Given the description of an element on the screen output the (x, y) to click on. 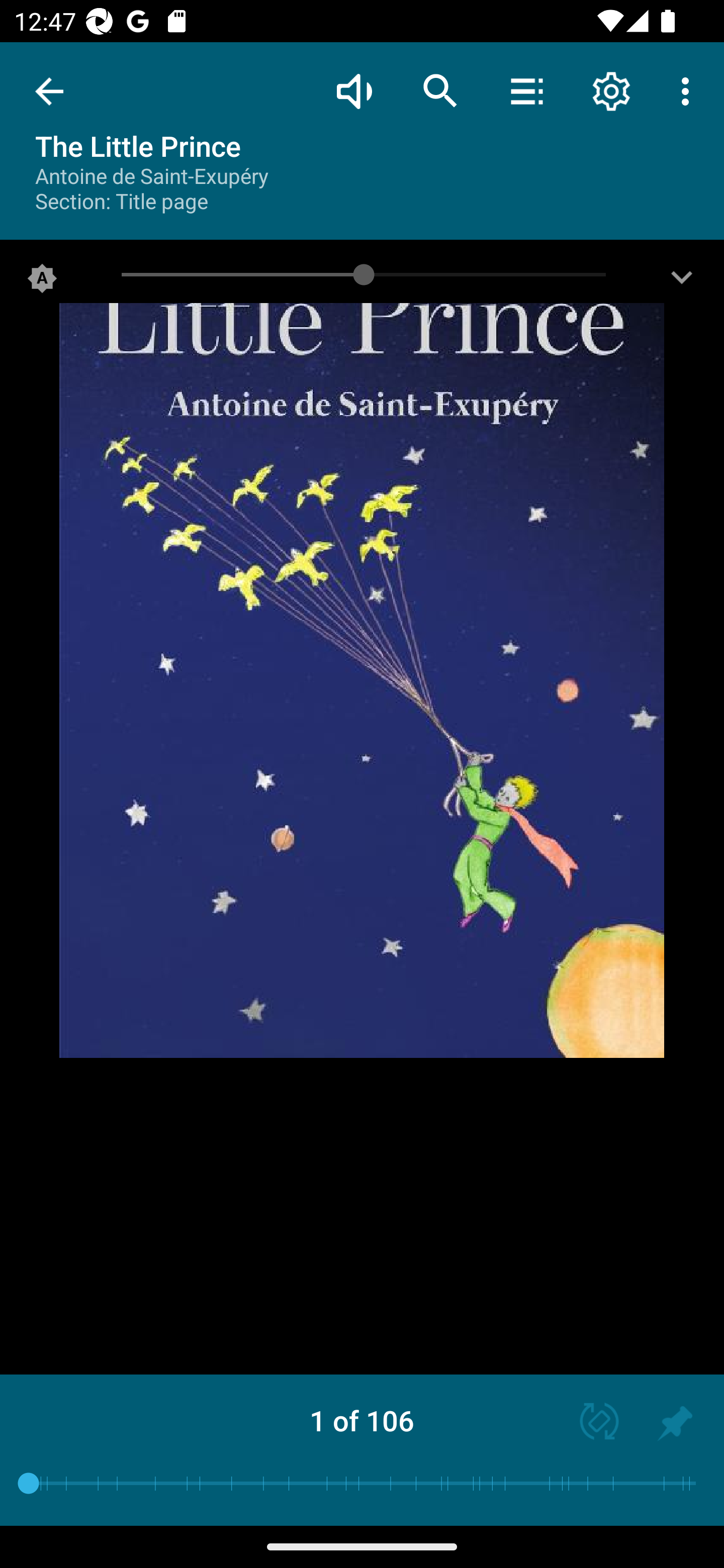
Exit reading (49, 91)
Read aloud (354, 90)
Text search (440, 90)
Contents / Bookmarks / Quotes (526, 90)
Reading settings (611, 90)
More options (688, 90)
Selected screen brightness (42, 281)
Screen brightness settings (681, 281)
1 of 106 (361, 1420)
Screen orientation (590, 1423)
Add to history (674, 1423)
